Given the description of an element on the screen output the (x, y) to click on. 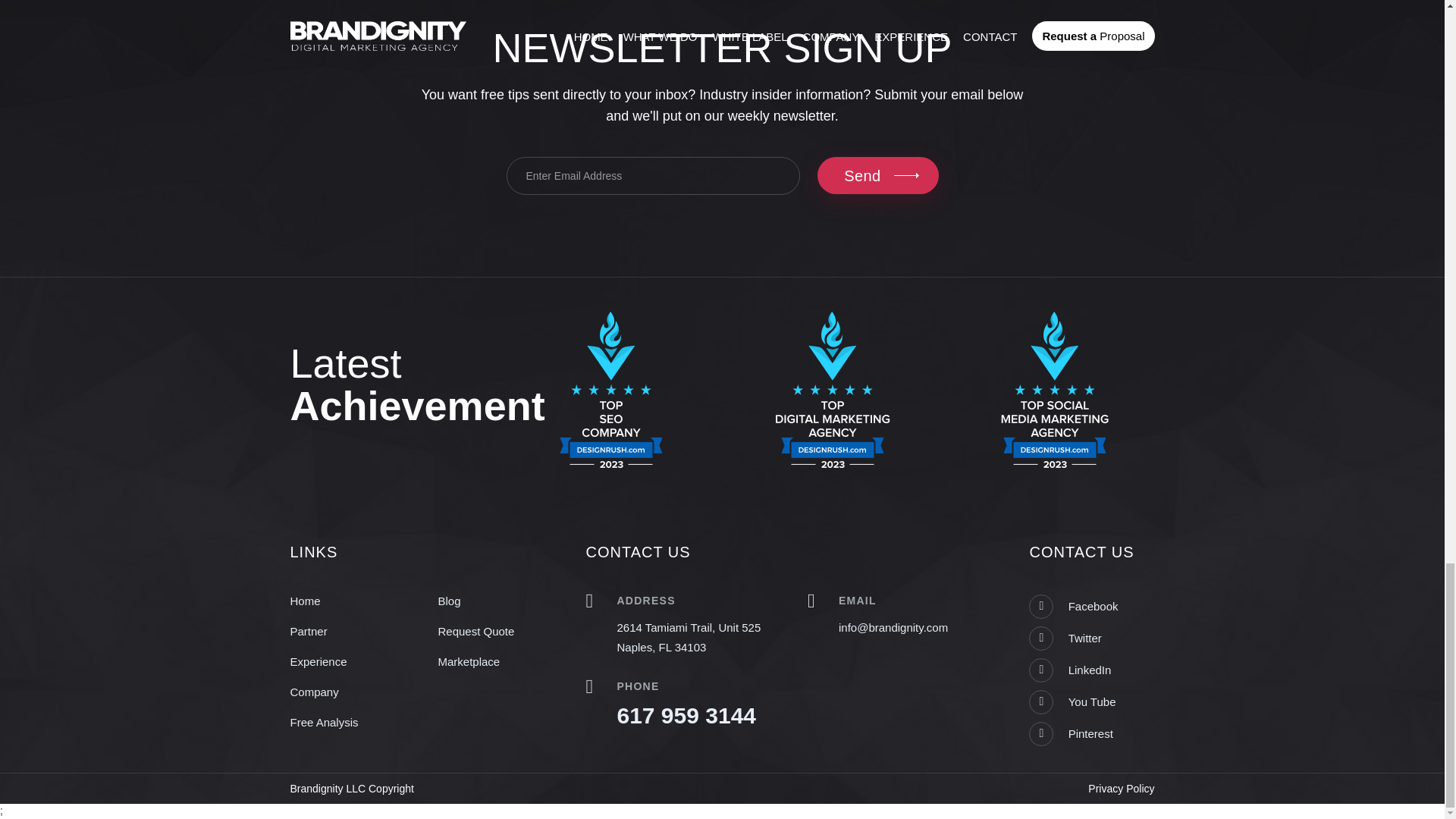
Send (876, 175)
